Given the description of an element on the screen output the (x, y) to click on. 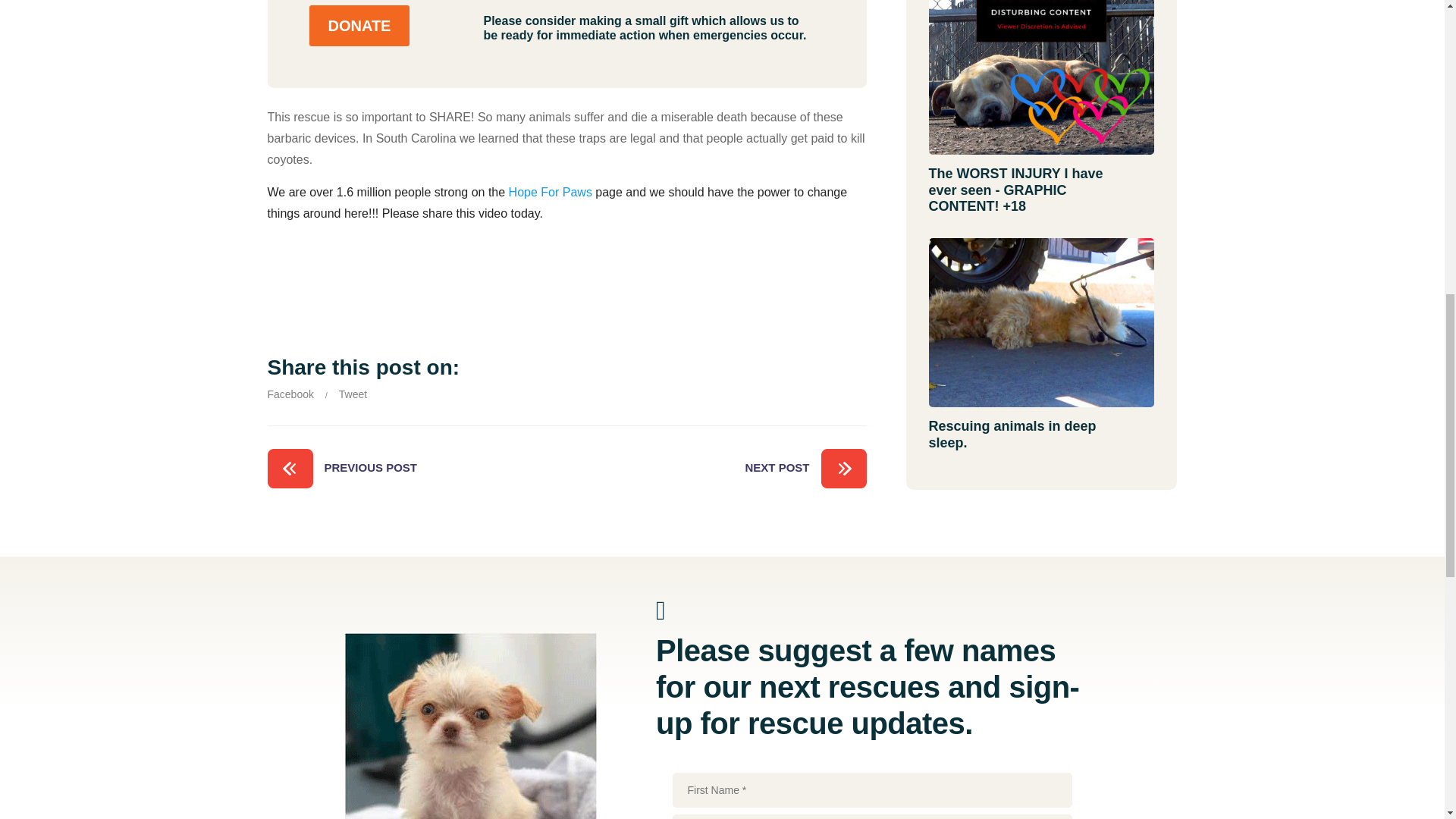
DONATE (359, 24)
Hope For Paws (550, 192)
Tweet (352, 394)
Facebook (289, 394)
PREVIOUS POST (341, 468)
